Given the description of an element on the screen output the (x, y) to click on. 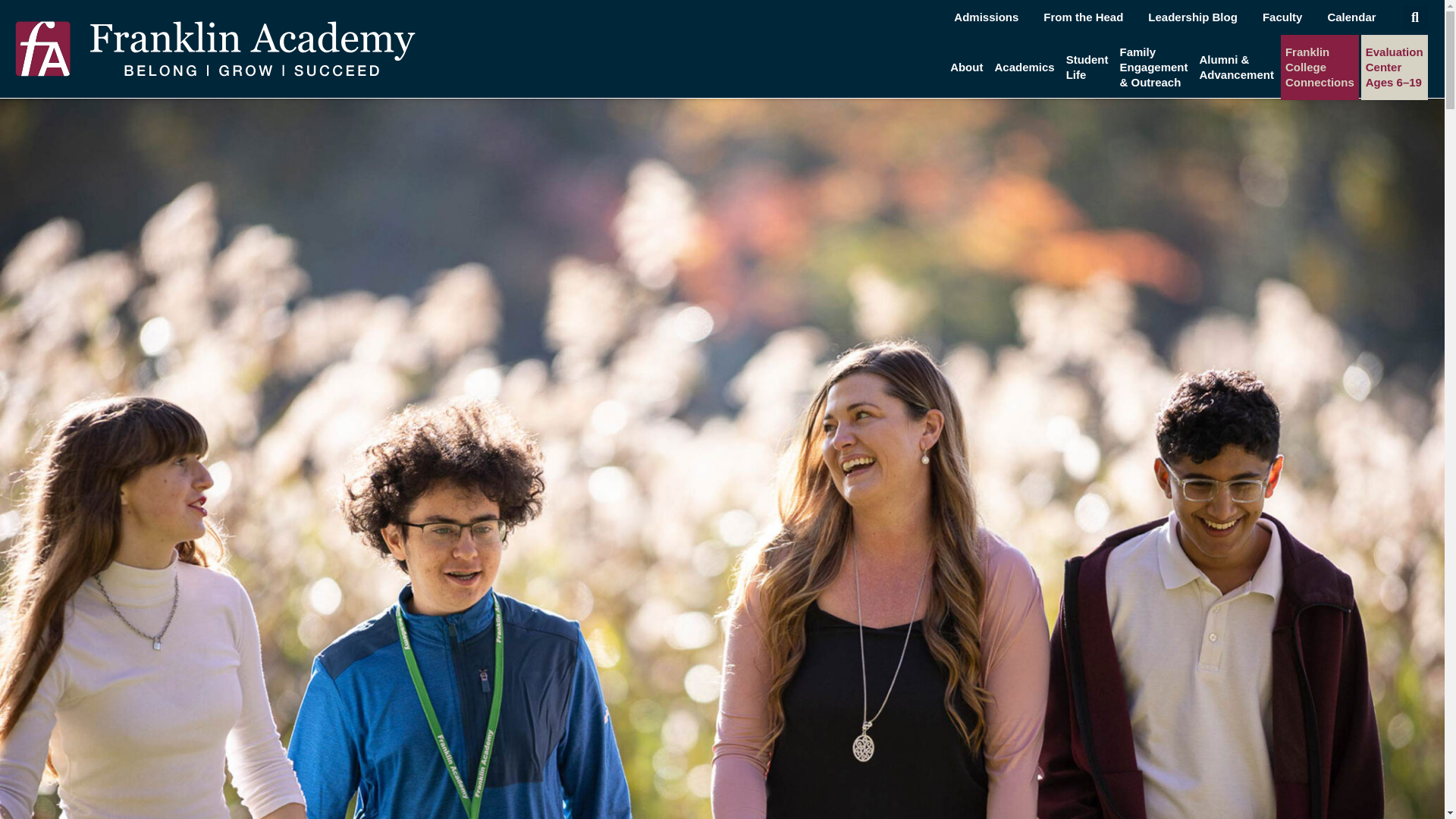
Admissions (985, 17)
Faculty (1282, 17)
Leadership Blog (1193, 17)
Calendar (1351, 17)
Academics (1024, 67)
From the Head (1083, 17)
